Given the description of an element on the screen output the (x, y) to click on. 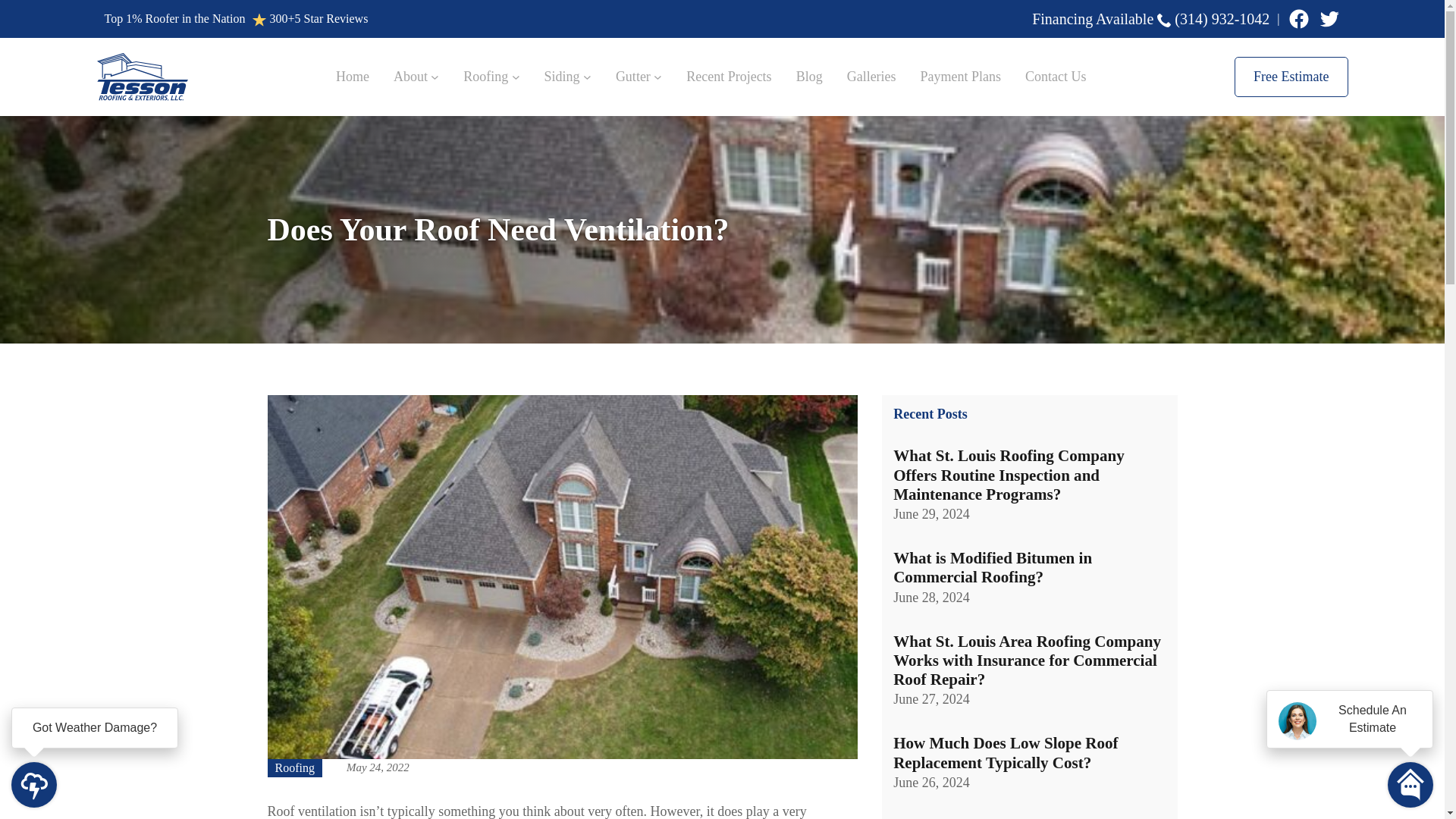
Free Estimate (1291, 76)
Siding (561, 76)
Home (352, 76)
Financing Available (1092, 18)
Contact Us (1055, 76)
Galleries (871, 76)
Recent Projects (728, 76)
About (410, 76)
Roofing (485, 76)
Blog (809, 76)
Payment Plans (960, 76)
Twitter (1328, 18)
Gutter (632, 76)
Facebook (1298, 18)
